Given the description of an element on the screen output the (x, y) to click on. 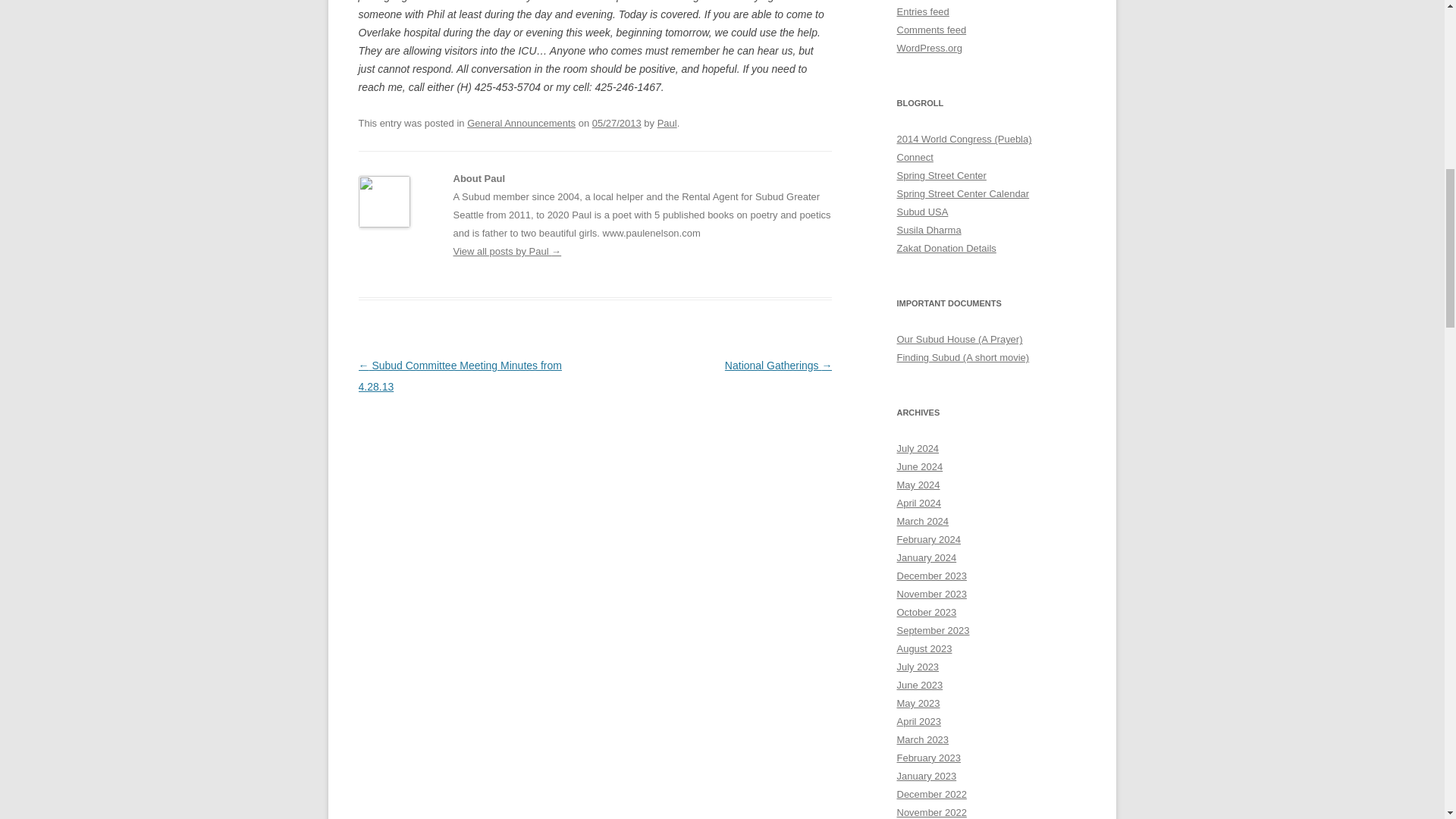
Paul (667, 122)
Entries feed (922, 11)
2014 Puebla, Mexico World Congress Website (963, 138)
The charitable wing of Subud International (928, 229)
Comments feed (931, 30)
Subud USA Website (921, 211)
A great way to help communities supported by SDI (945, 247)
View all posts by Paul (667, 122)
4:59 PM (617, 122)
General Announcements (521, 122)
